Given the description of an element on the screen output the (x, y) to click on. 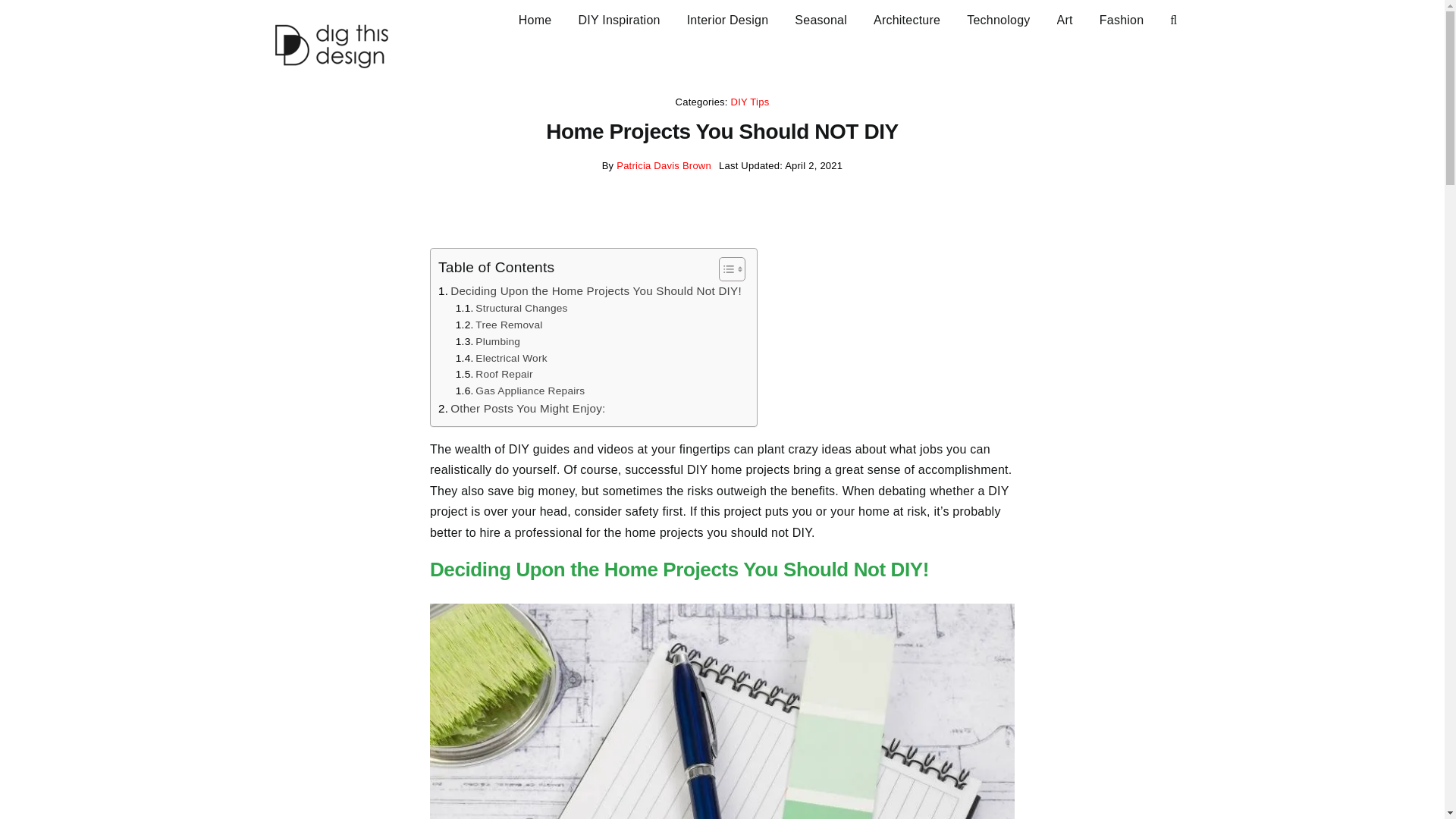
diy-inspiration (618, 18)
interior-design (727, 18)
Seasonal (820, 18)
Architecture (906, 18)
Interior Design (727, 18)
Home (534, 18)
DIY Inspiration (618, 18)
